Given the description of an element on the screen output the (x, y) to click on. 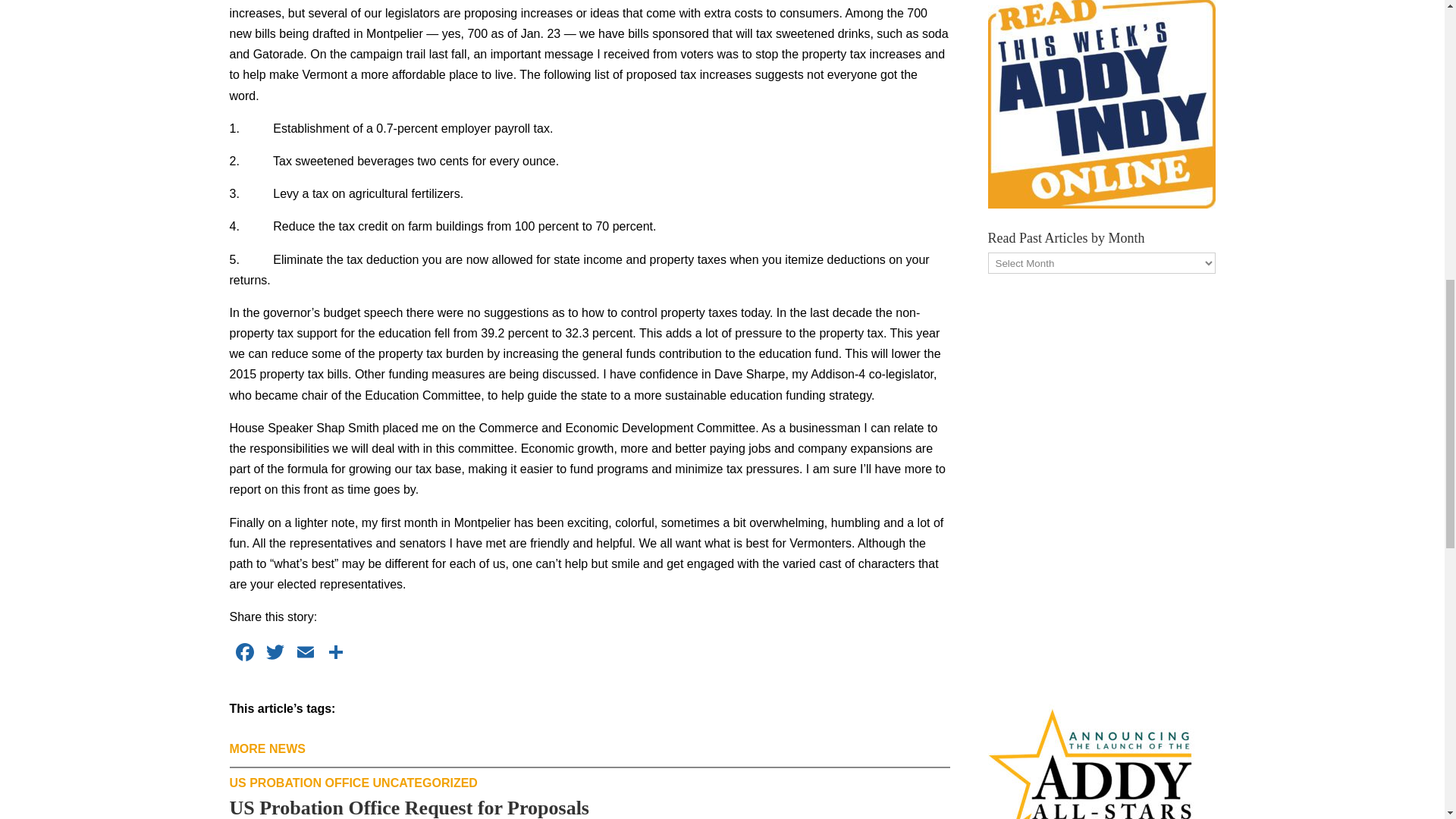
Twitter (274, 653)
Facebook (243, 653)
Email (304, 653)
